Given the description of an element on the screen output the (x, y) to click on. 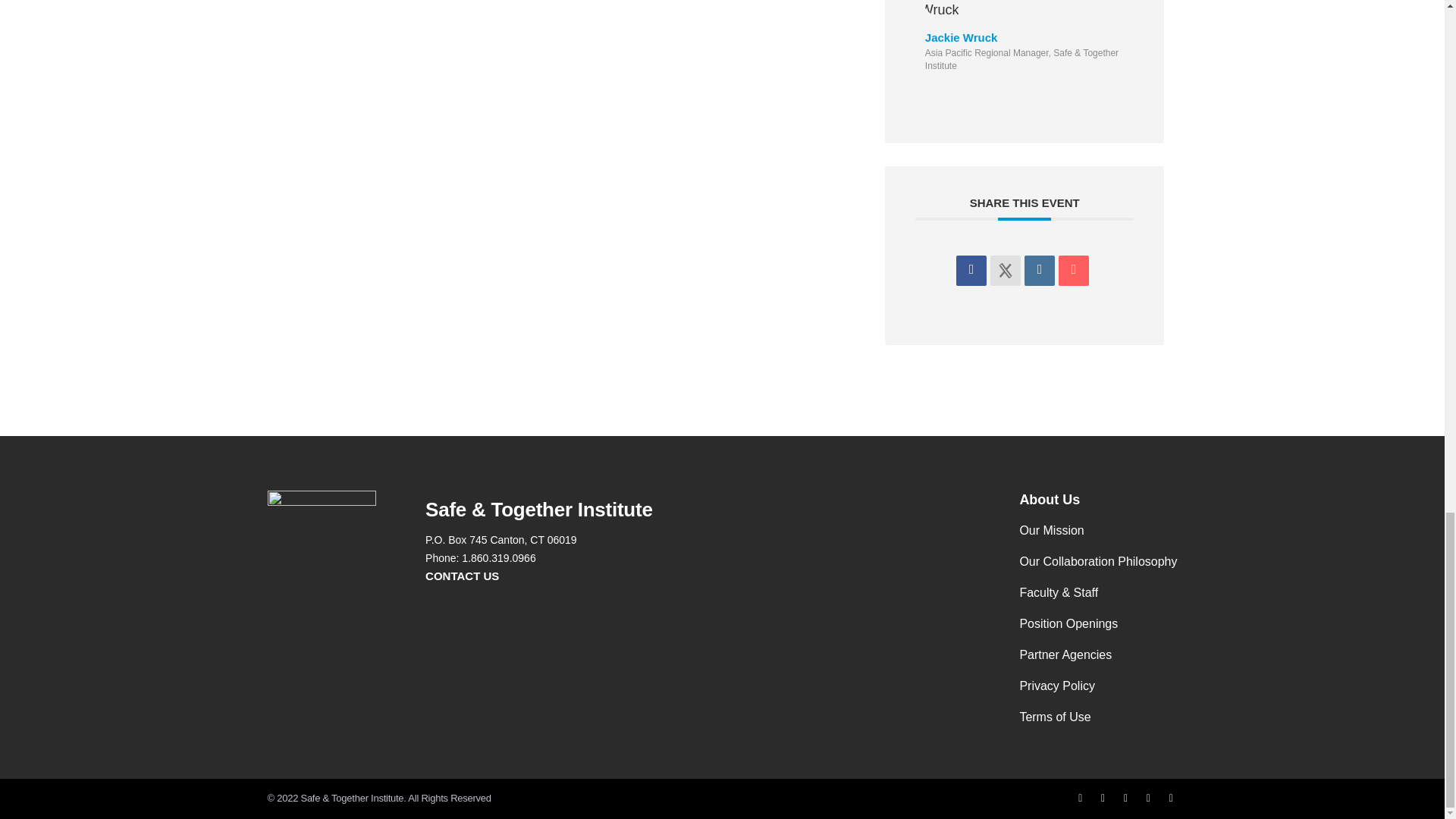
X Social Network (1005, 270)
Share on Facebook (971, 270)
Email (1073, 270)
Linkedin (1039, 270)
